Given the description of an element on the screen output the (x, y) to click on. 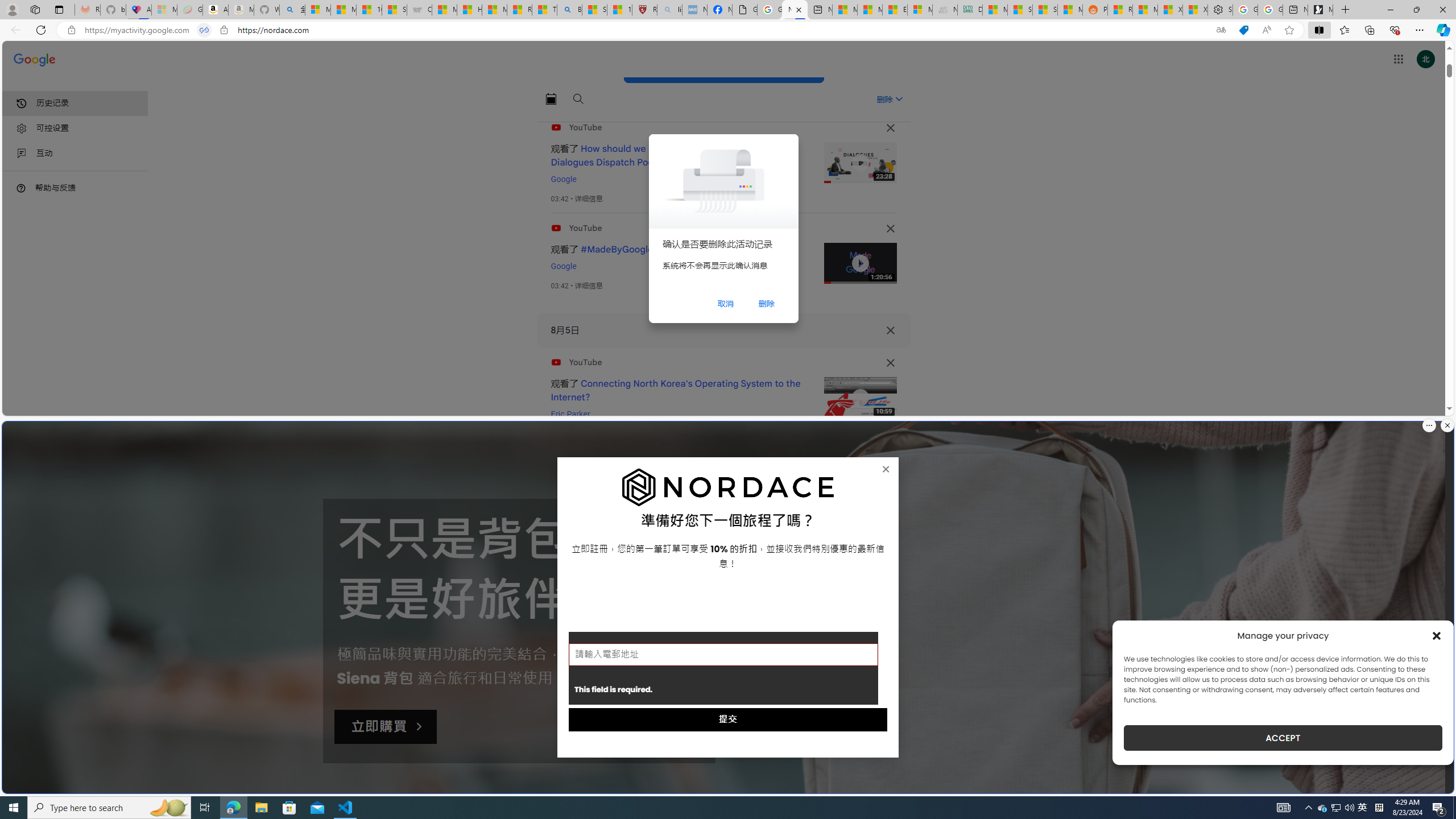
Close split screen. (1447, 425)
Class: DI7Mnf NMm5M (889, 330)
This field is required. (723, 668)
